Given the description of an element on the screen output the (x, y) to click on. 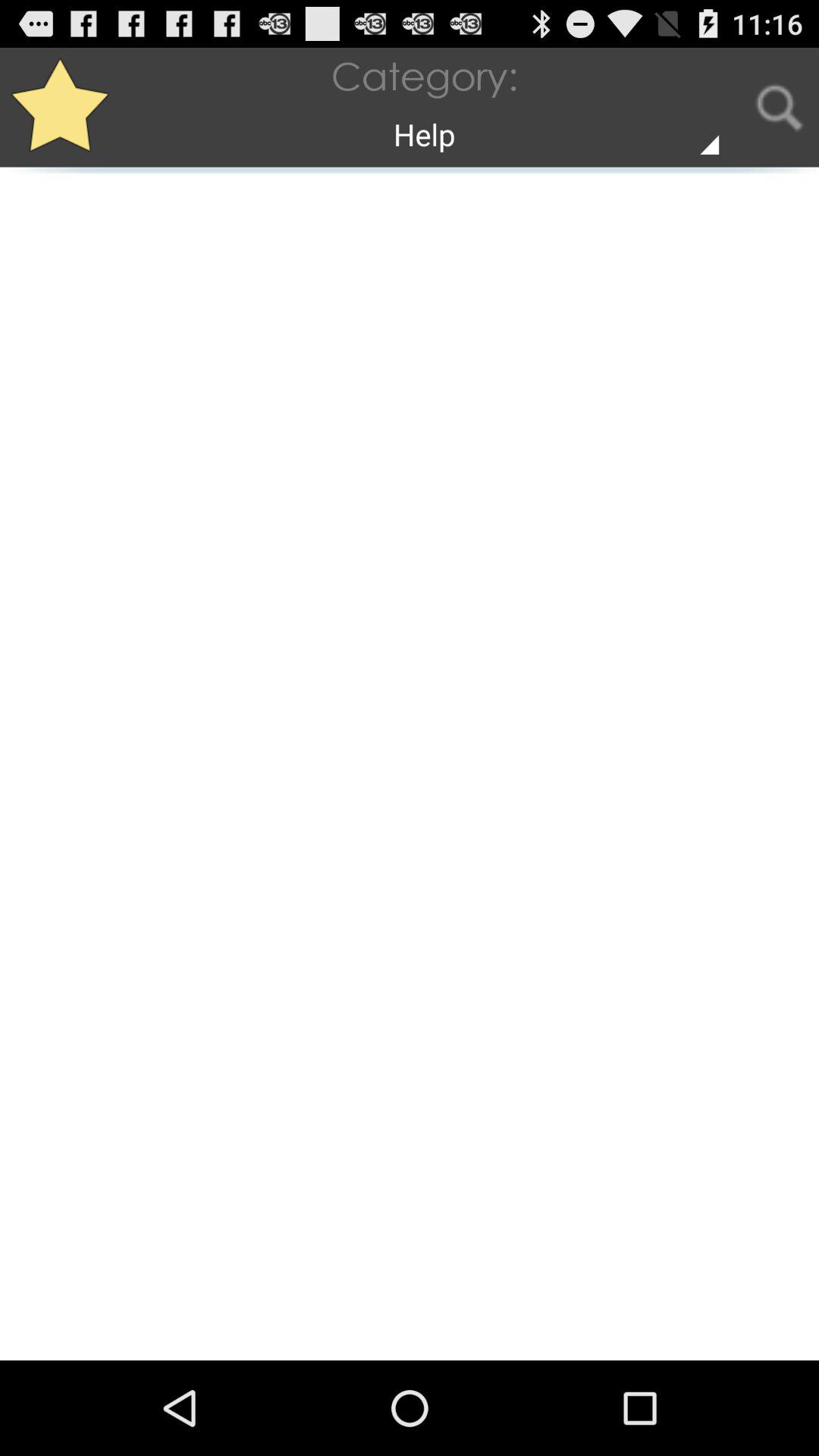
search (779, 107)
